Given the description of an element on the screen output the (x, y) to click on. 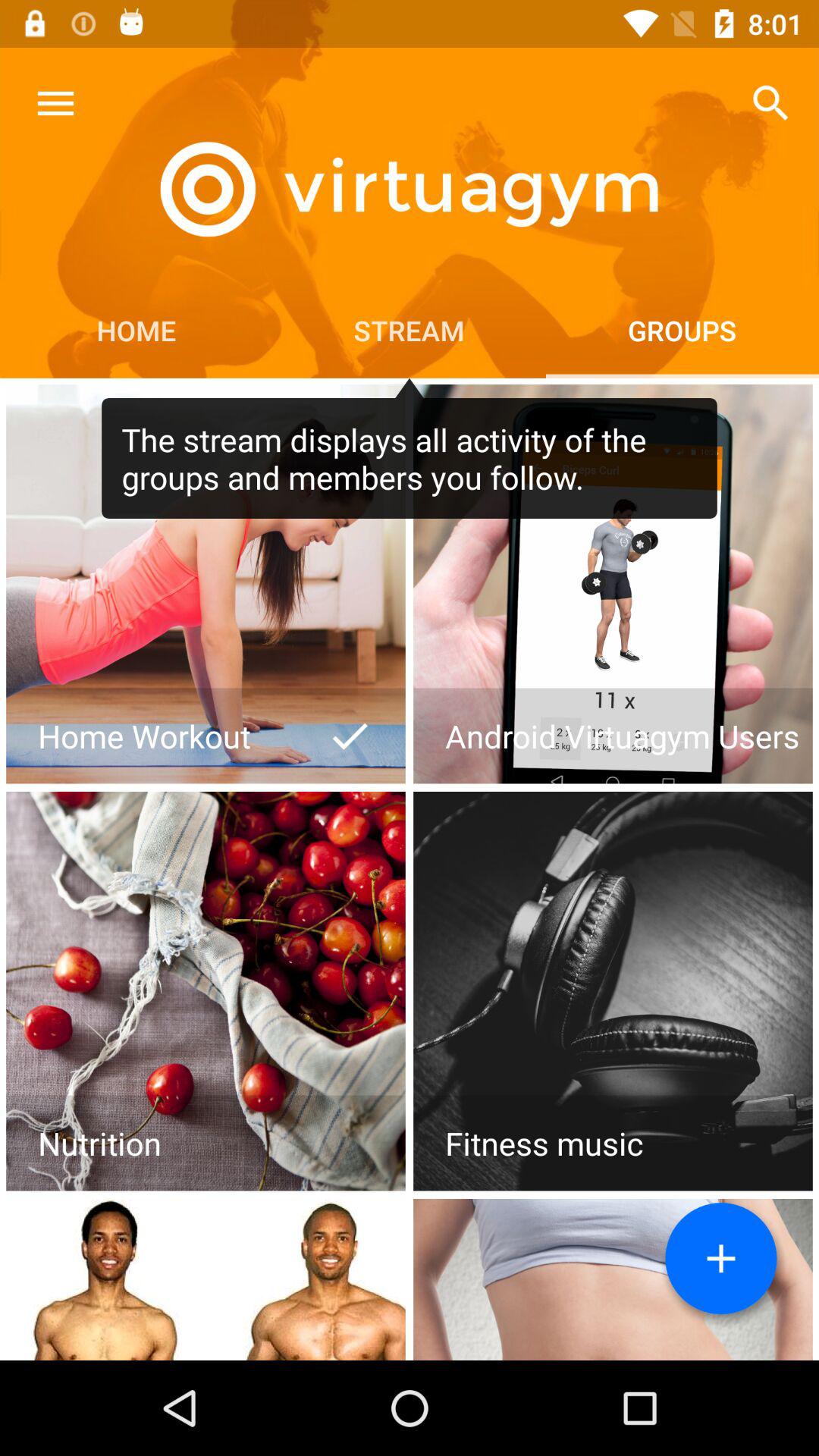
oopen nutrition web page (205, 990)
